Given the description of an element on the screen output the (x, y) to click on. 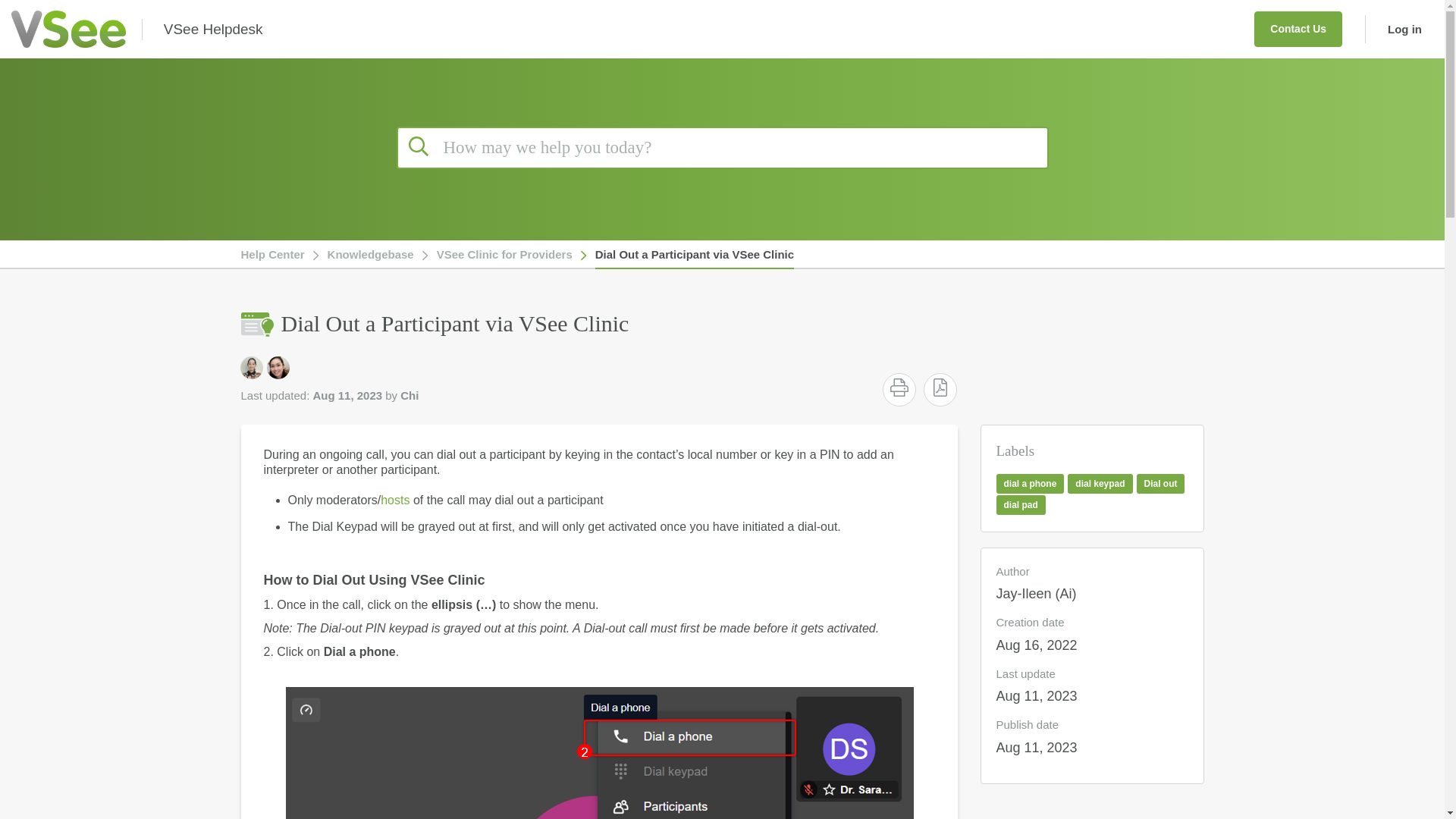
Pdf (939, 389)
Log in (1398, 29)
Dial out (1161, 483)
Dial Out a Participant via VSee Clinic (694, 254)
VSee Clinic for Providers (504, 254)
dial a phone (1029, 483)
Print (898, 389)
Chi (277, 367)
VSee Helpdesk (213, 29)
dial keypad (1099, 483)
hosts  (396, 499)
Contact Us (1297, 28)
Print (898, 387)
Print (898, 387)
Knowledgebase (370, 254)
